Given the description of an element on the screen output the (x, y) to click on. 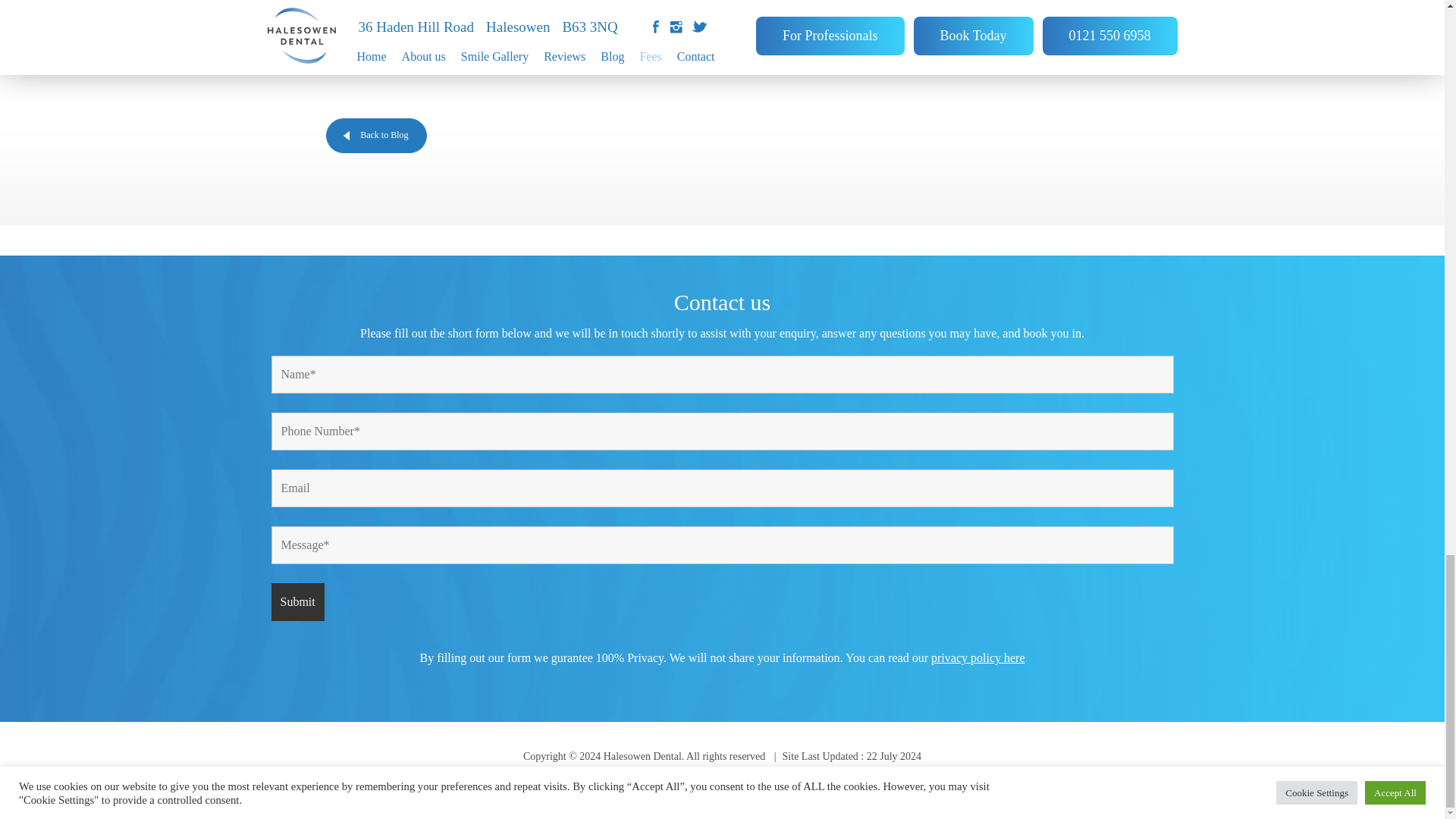
Submit (297, 601)
